Given the description of an element on the screen output the (x, y) to click on. 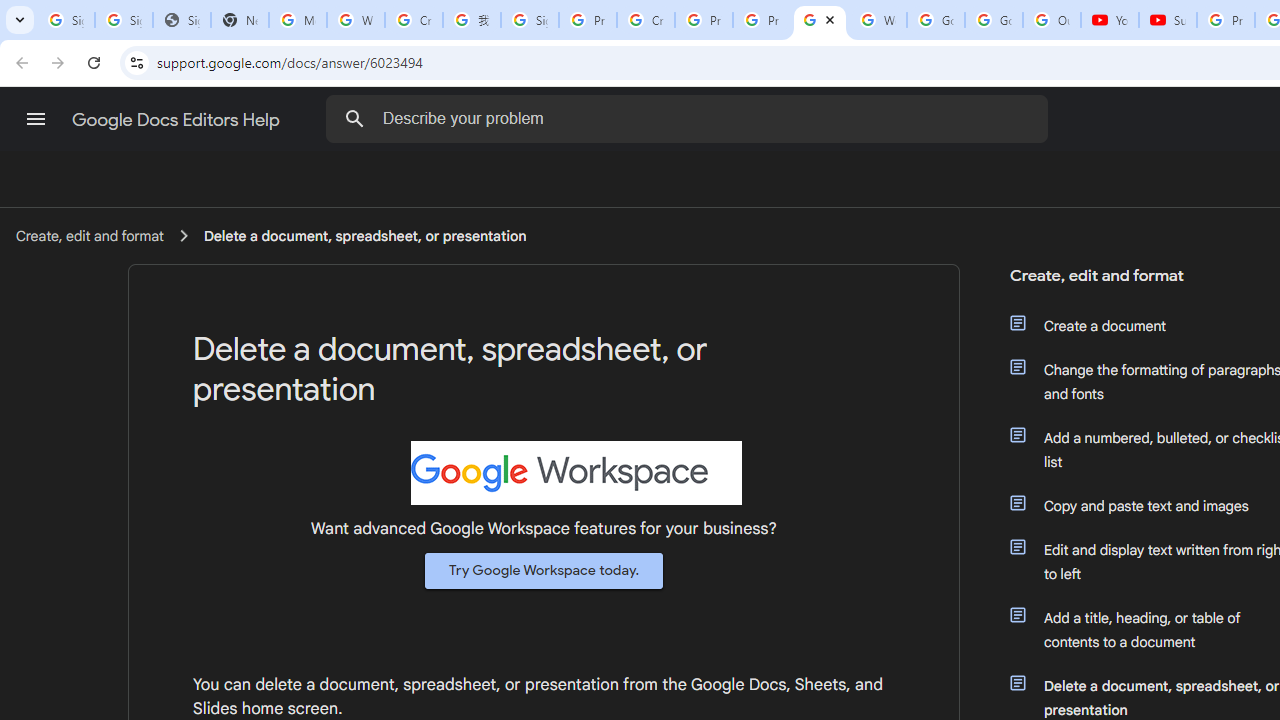
Sign in - Google Accounts (529, 20)
Google Account (993, 20)
Create, edit and format (89, 235)
Google Docs Editors Help (177, 119)
Search the Help Center (354, 118)
Create your Google Account (645, 20)
Create your Google Account (413, 20)
Sign in - Google Accounts (123, 20)
YouTube (1110, 20)
